Given the description of an element on the screen output the (x, y) to click on. 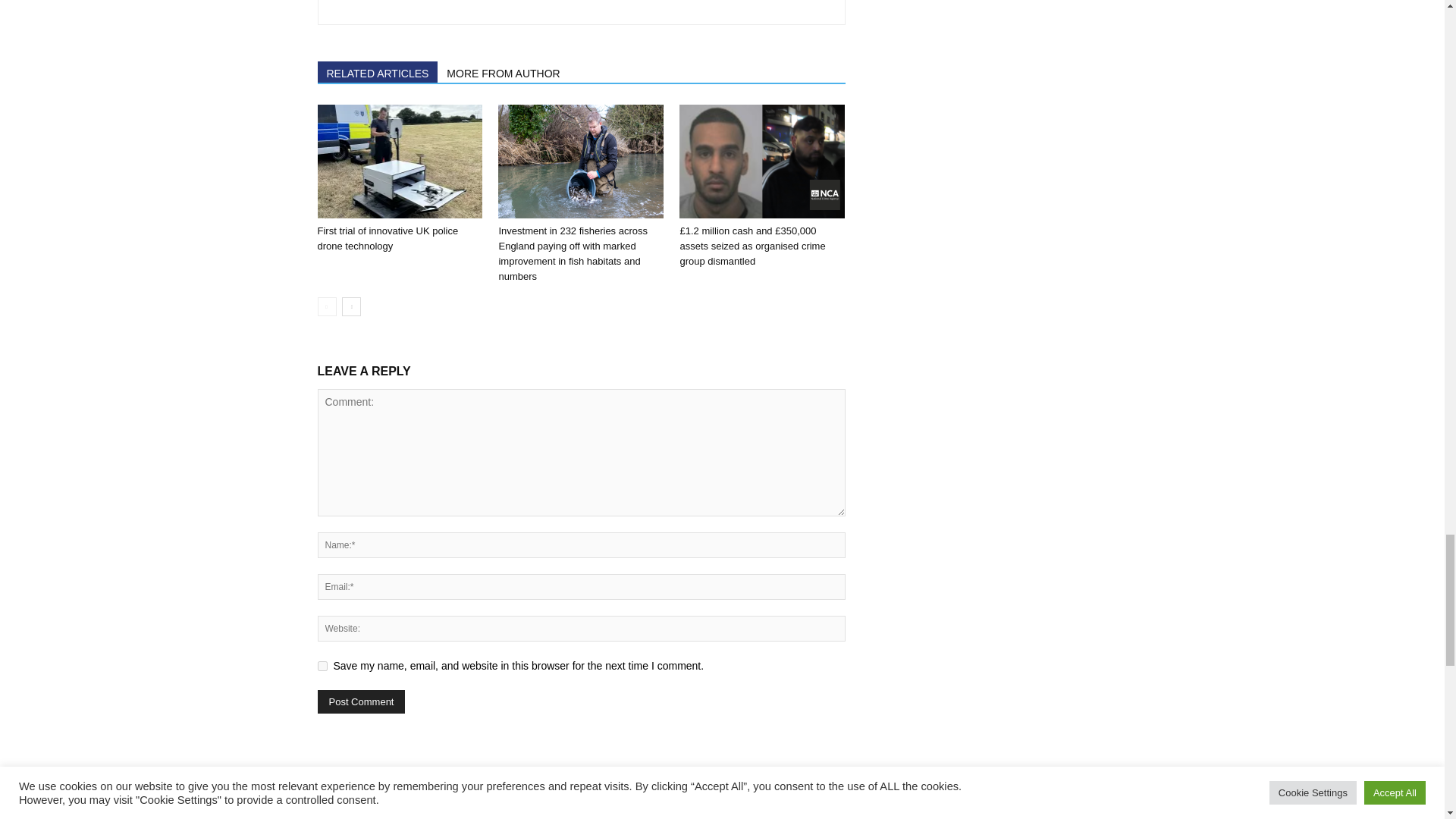
Post Comment (360, 701)
yes (321, 665)
